Given the description of an element on the screen output the (x, y) to click on. 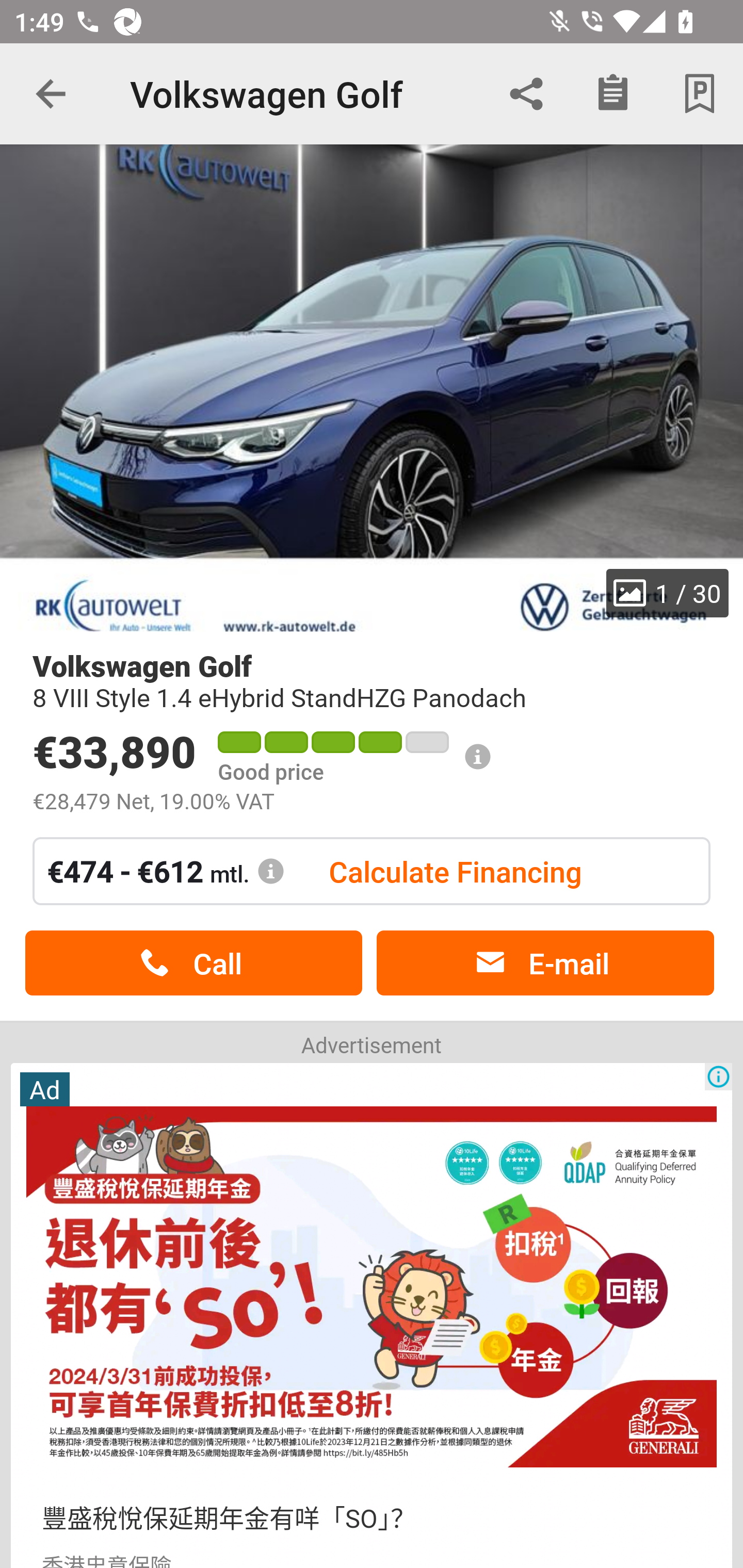
Navigate up (50, 93)
Share via (525, 93)
Checklist (612, 93)
Park (699, 93)
Calculate Financing (454, 870)
€474 - €612 mtl. (165, 870)
Call (193, 963)
E-mail (545, 963)
Ad 豐盛稅悅保延期年金有咩「SO」？ 香港忠意保險 Ad Choices Icon (371, 1313)
Ad Choices Icon (718, 1076)
豐盛稅悅保延期年金有咩「SO」？ (228, 1517)
